Given the description of an element on the screen output the (x, y) to click on. 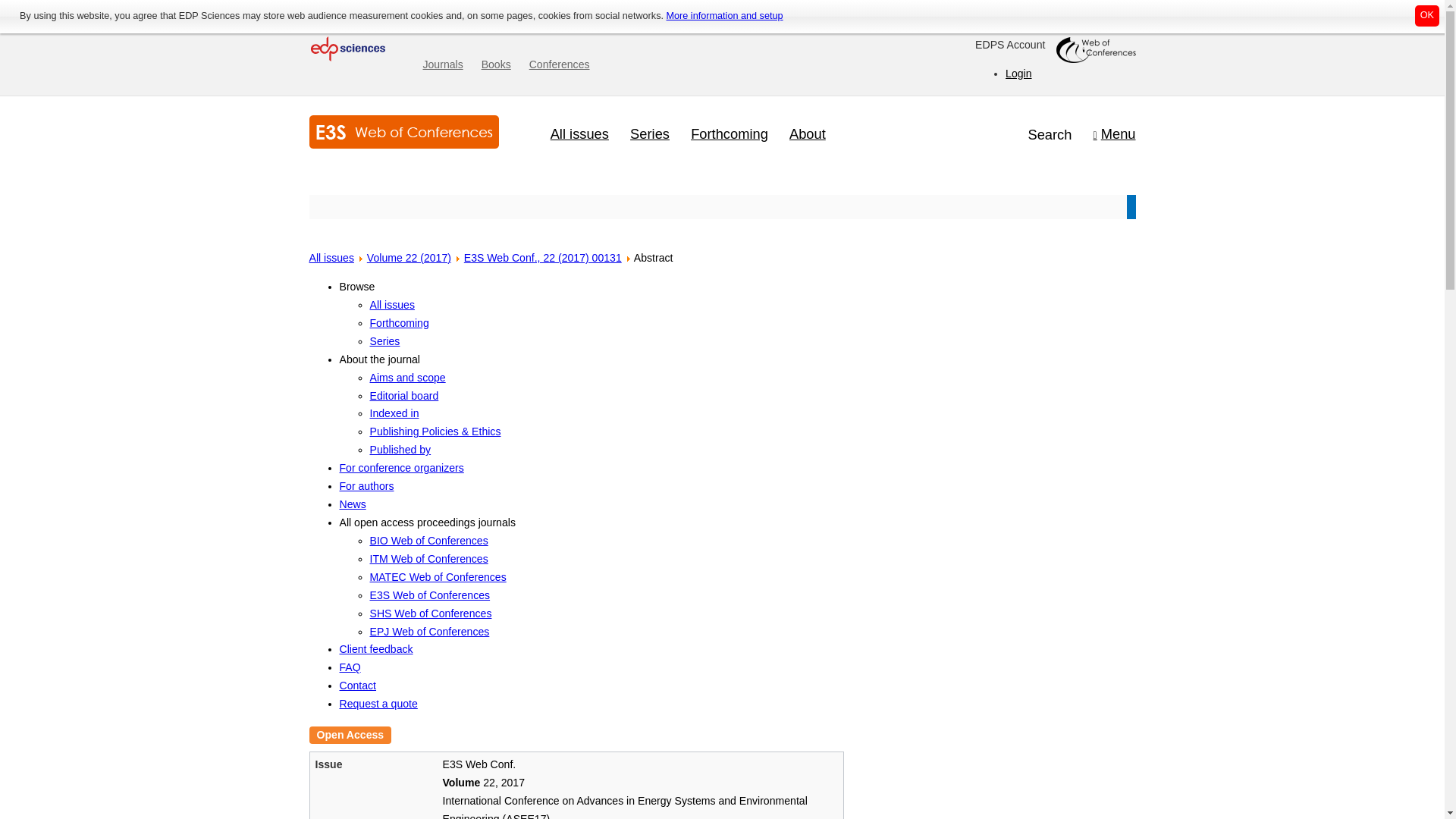
Open Access proceedings in Humanities and Social Sciences (430, 613)
Open-access proceedings in physics and related sciences (429, 631)
Conferences (559, 65)
Login (1018, 72)
Books (496, 65)
Open-access proceedings in Biology (428, 540)
Display the search engine (1049, 135)
More information and setup (724, 15)
